Given the description of an element on the screen output the (x, y) to click on. 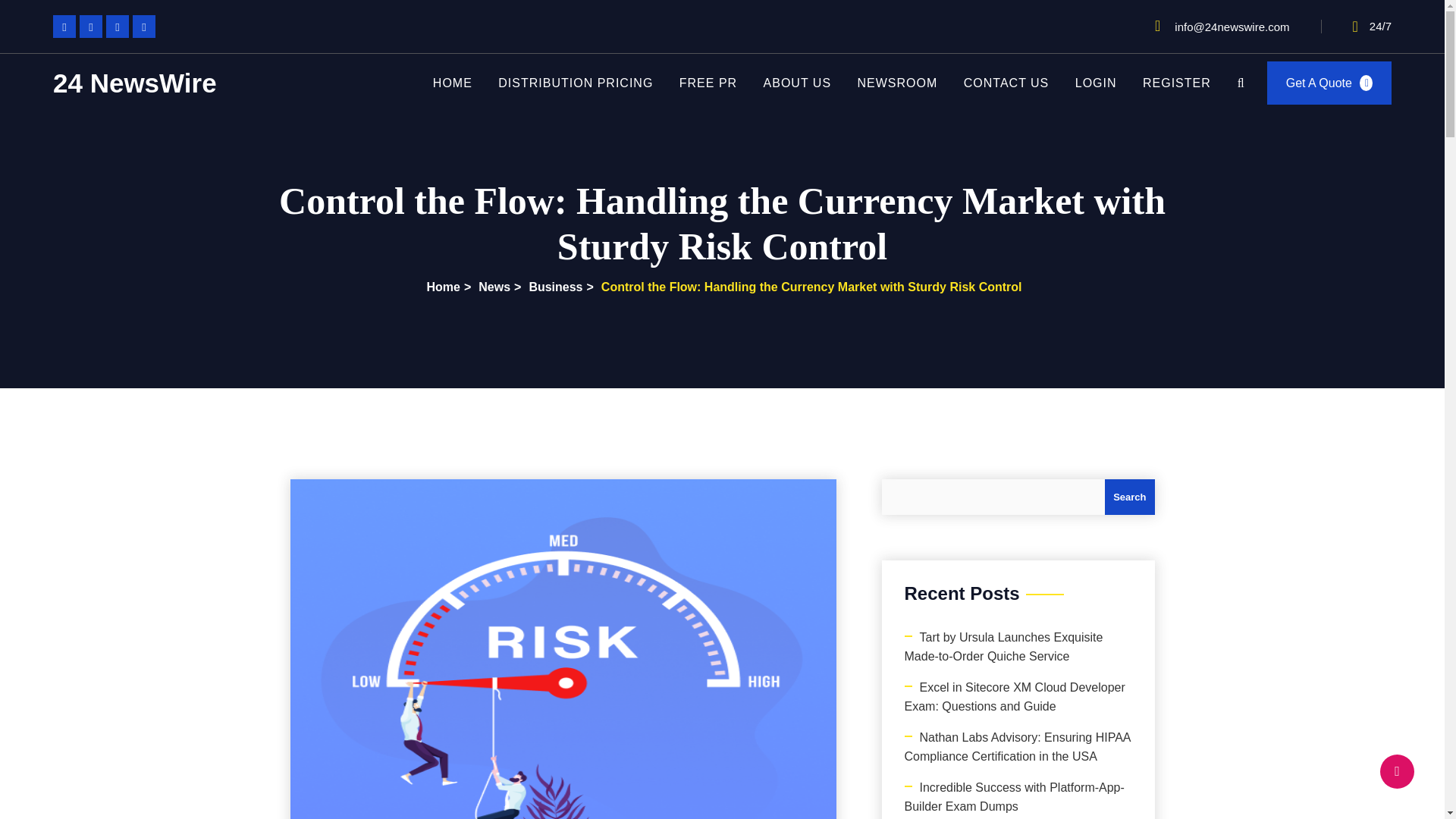
ABOUT US (796, 82)
Business (553, 286)
Go to the Business Category archives. (553, 286)
24 NewsWire (133, 82)
Search (1129, 497)
Go to News. (492, 286)
Go to Home. (441, 286)
